Given the description of an element on the screen output the (x, y) to click on. 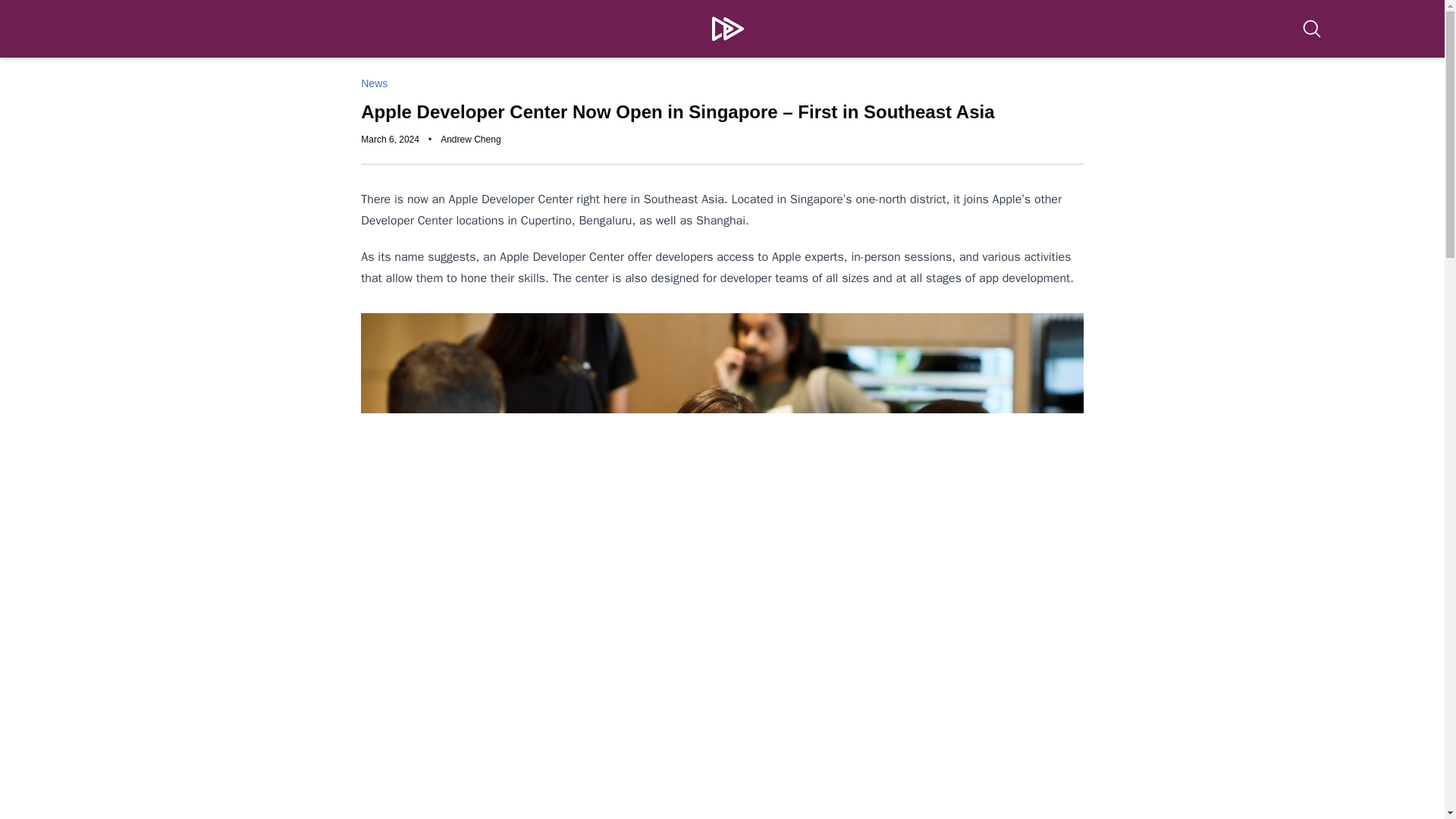
Andrew Cheng (470, 139)
News (374, 83)
